Given the description of an element on the screen output the (x, y) to click on. 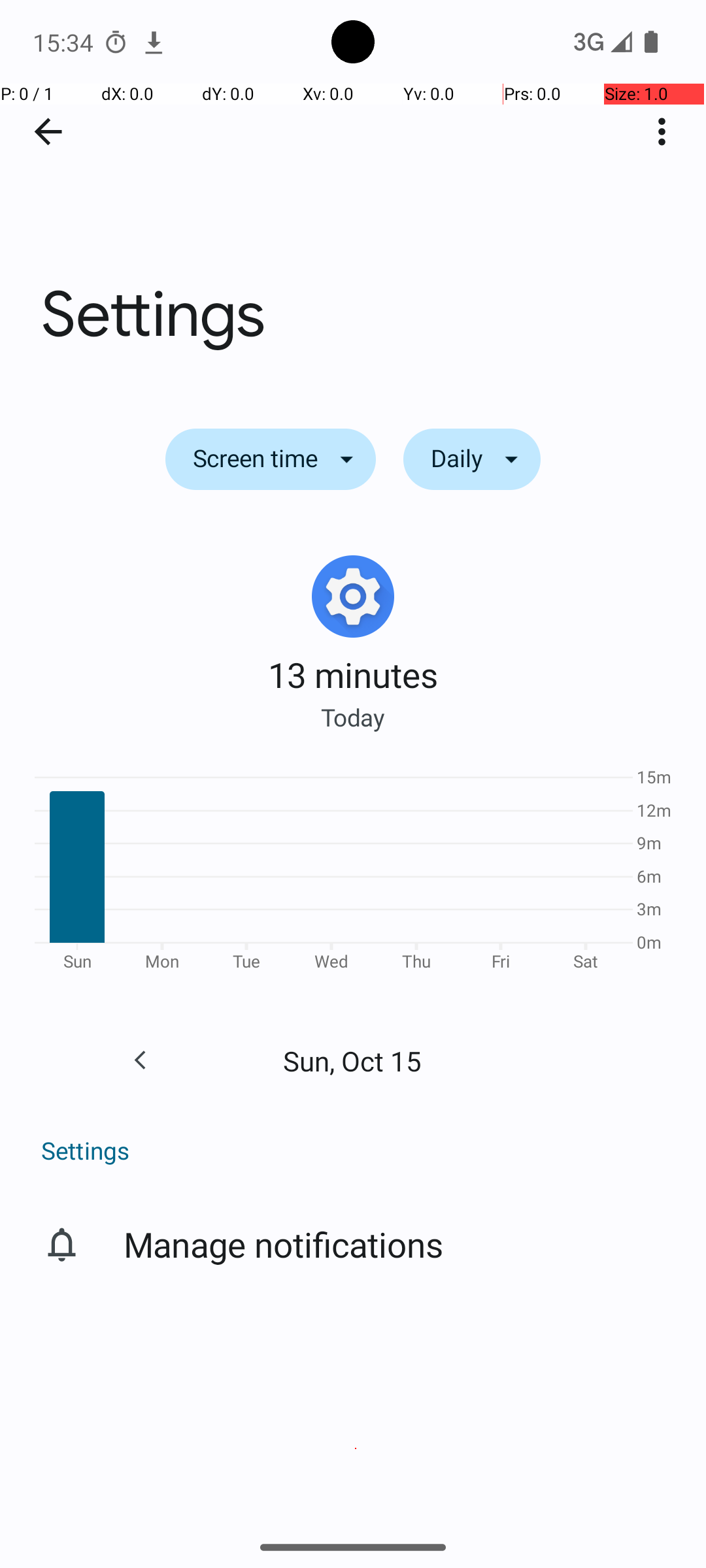
13 minutes Element type: android.widget.TextView (353, 674)
